Given the description of an element on the screen output the (x, y) to click on. 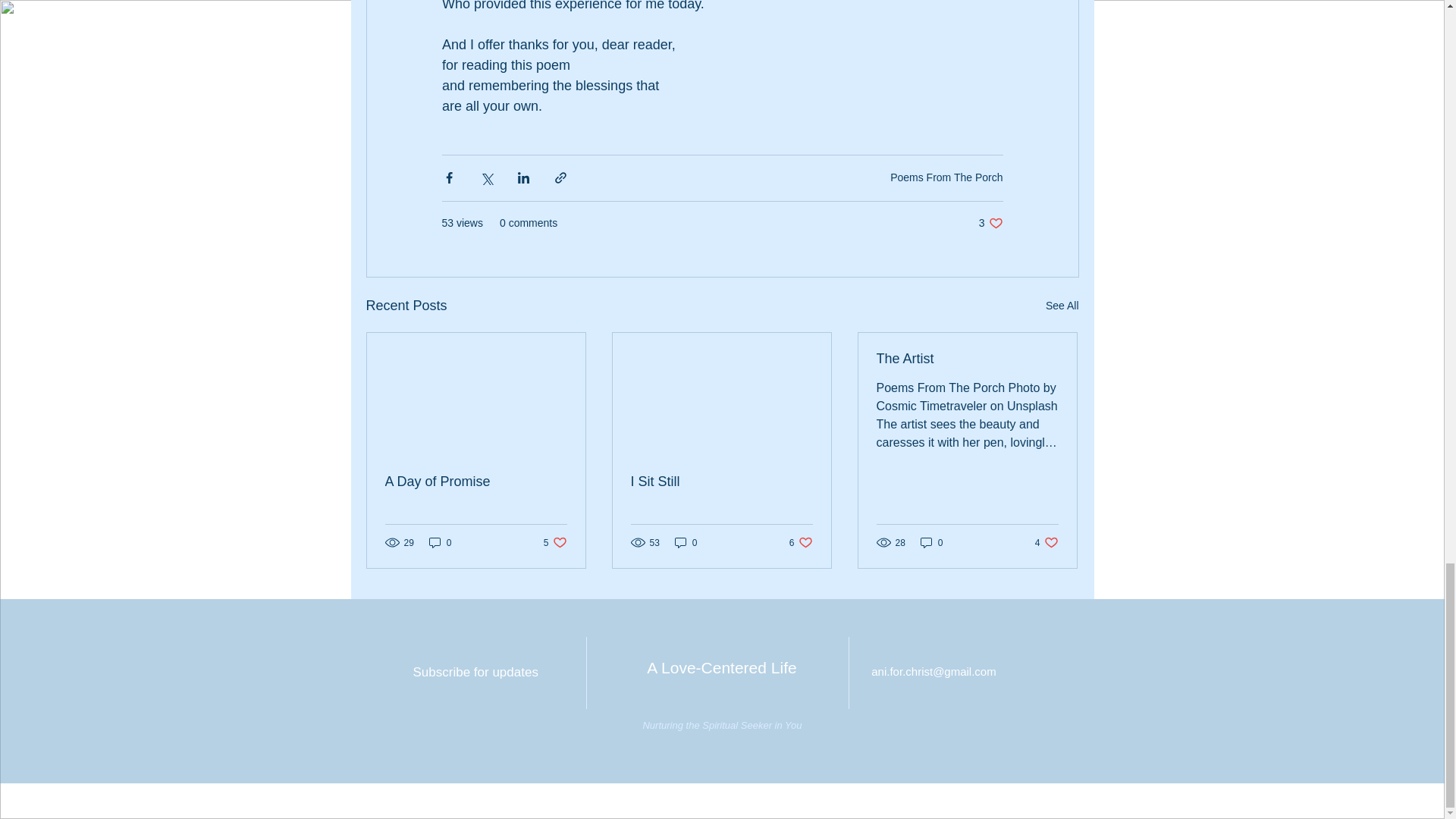
See All (555, 542)
A Love-Centered Life (1061, 305)
Subscribe for updates (721, 667)
I Sit Still (990, 223)
0 (474, 672)
A Day of Promise (721, 481)
The Artist (440, 542)
Nurturing the Spiritual Seeker in You (476, 481)
